Given the description of an element on the screen output the (x, y) to click on. 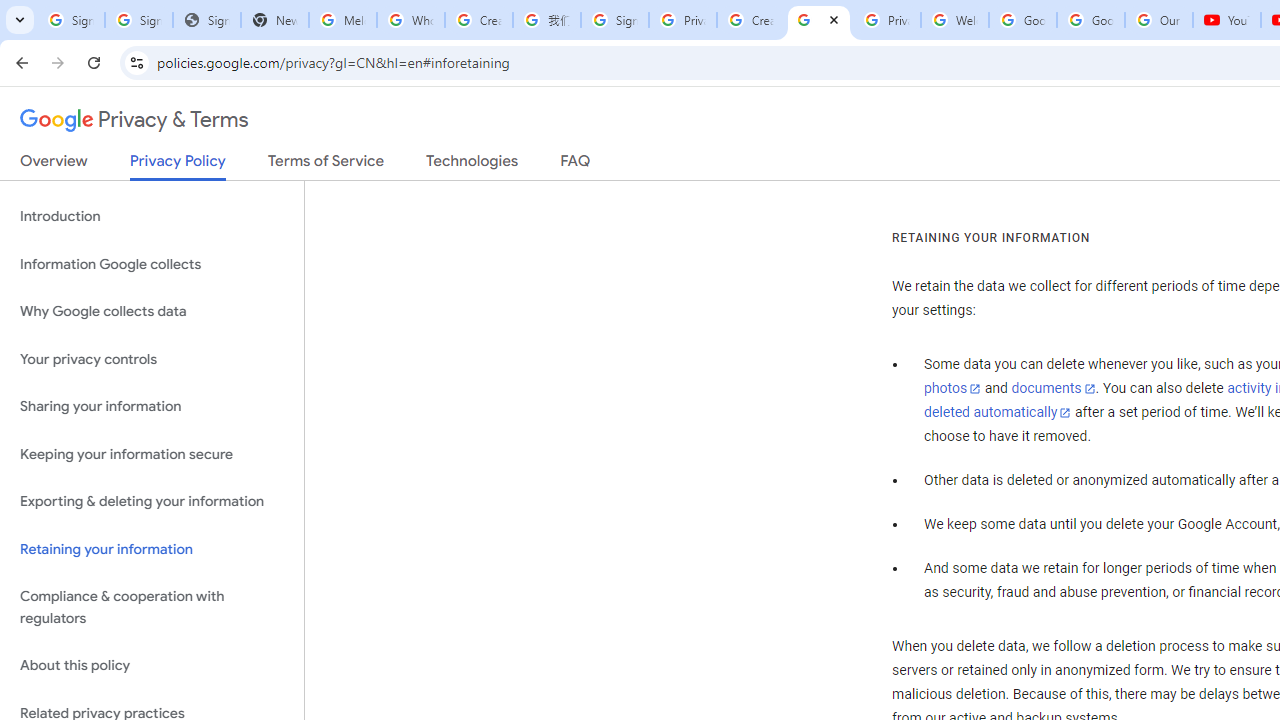
View site information (136, 62)
Your privacy controls (152, 358)
Sign in - Google Accounts (138, 20)
Privacy & Terms (134, 120)
Create your Google Account (479, 20)
Sharing your information (152, 407)
YouTube (1226, 20)
Sign in - Google Accounts (614, 20)
photos (952, 389)
